Given the description of an element on the screen output the (x, y) to click on. 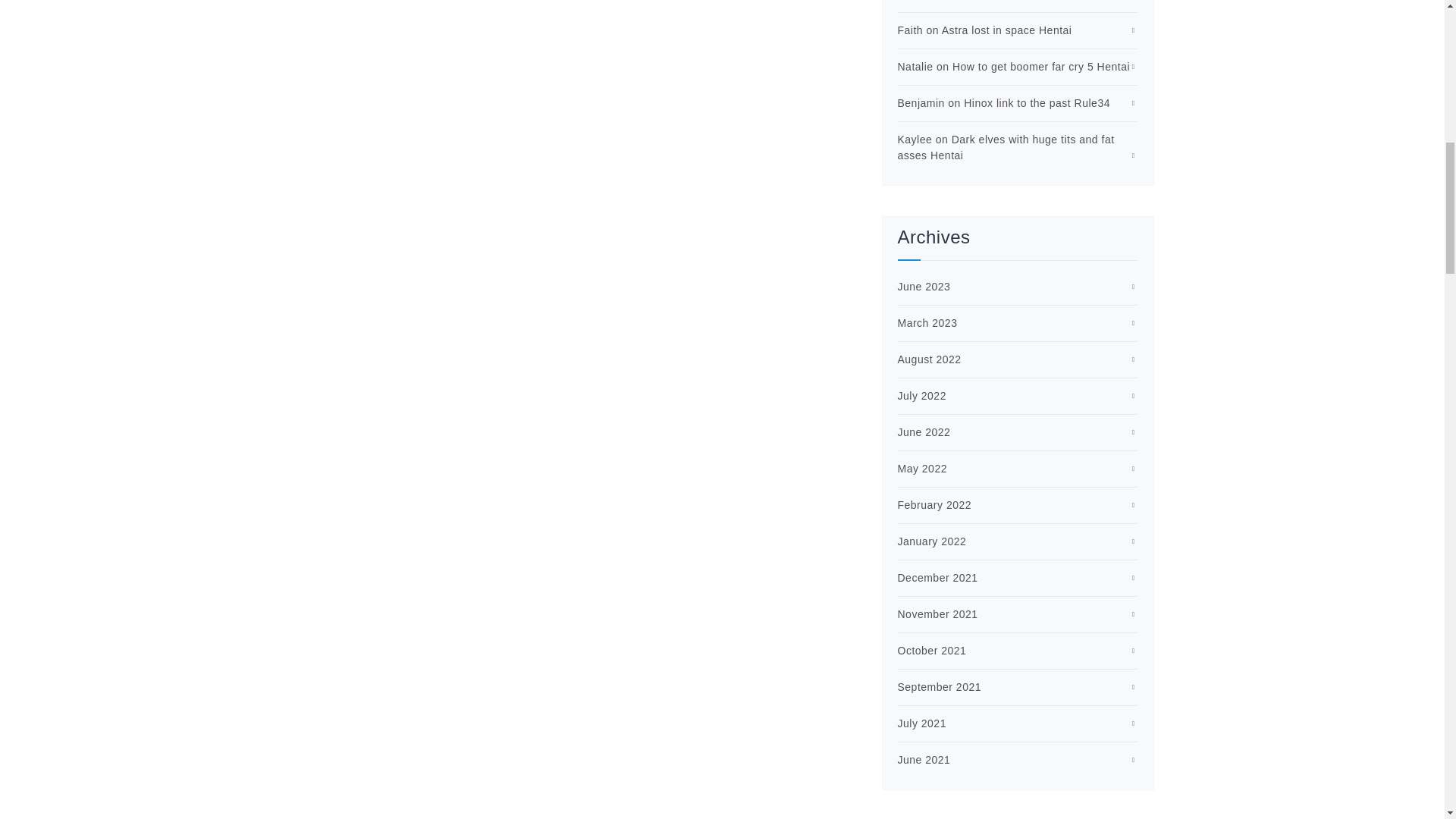
Hinox link to the past Rule34 (1036, 102)
June 2023 (924, 286)
June 2021 (924, 759)
November 2021 (938, 613)
February 2022 (935, 504)
September 2021 (939, 686)
May 2022 (922, 468)
December 2021 (938, 577)
October 2021 (932, 650)
June 2022 (924, 431)
